Given the description of an element on the screen output the (x, y) to click on. 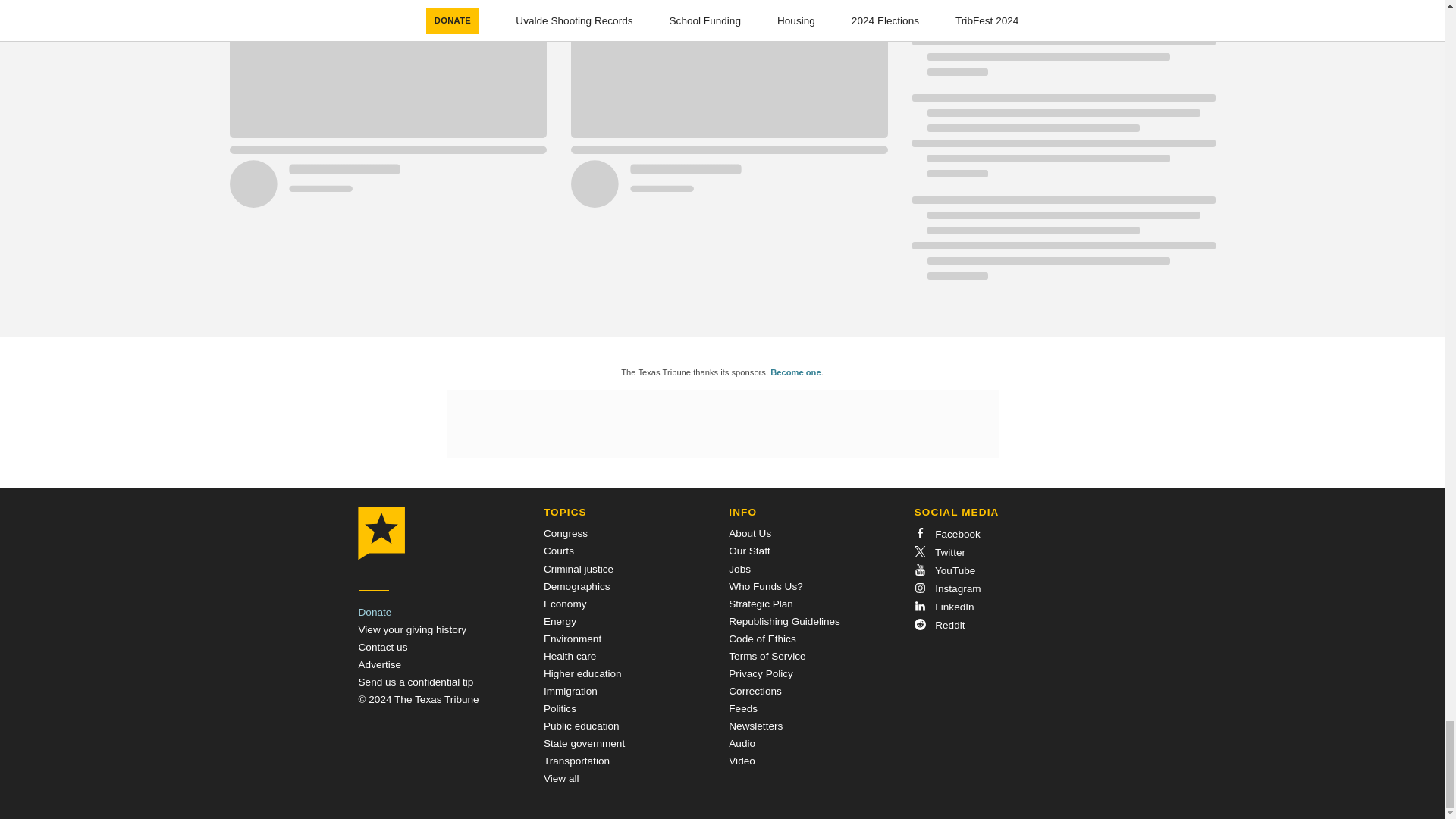
About Us (750, 532)
Who Funds Us? (765, 586)
Code of Ethics (761, 638)
Advertise (379, 664)
Send a Tip (415, 681)
Donate (374, 612)
Privacy Policy (761, 673)
Republishing Guidelines (784, 621)
View your giving history (411, 629)
Strategic Plan (761, 603)
